Given the description of an element on the screen output the (x, y) to click on. 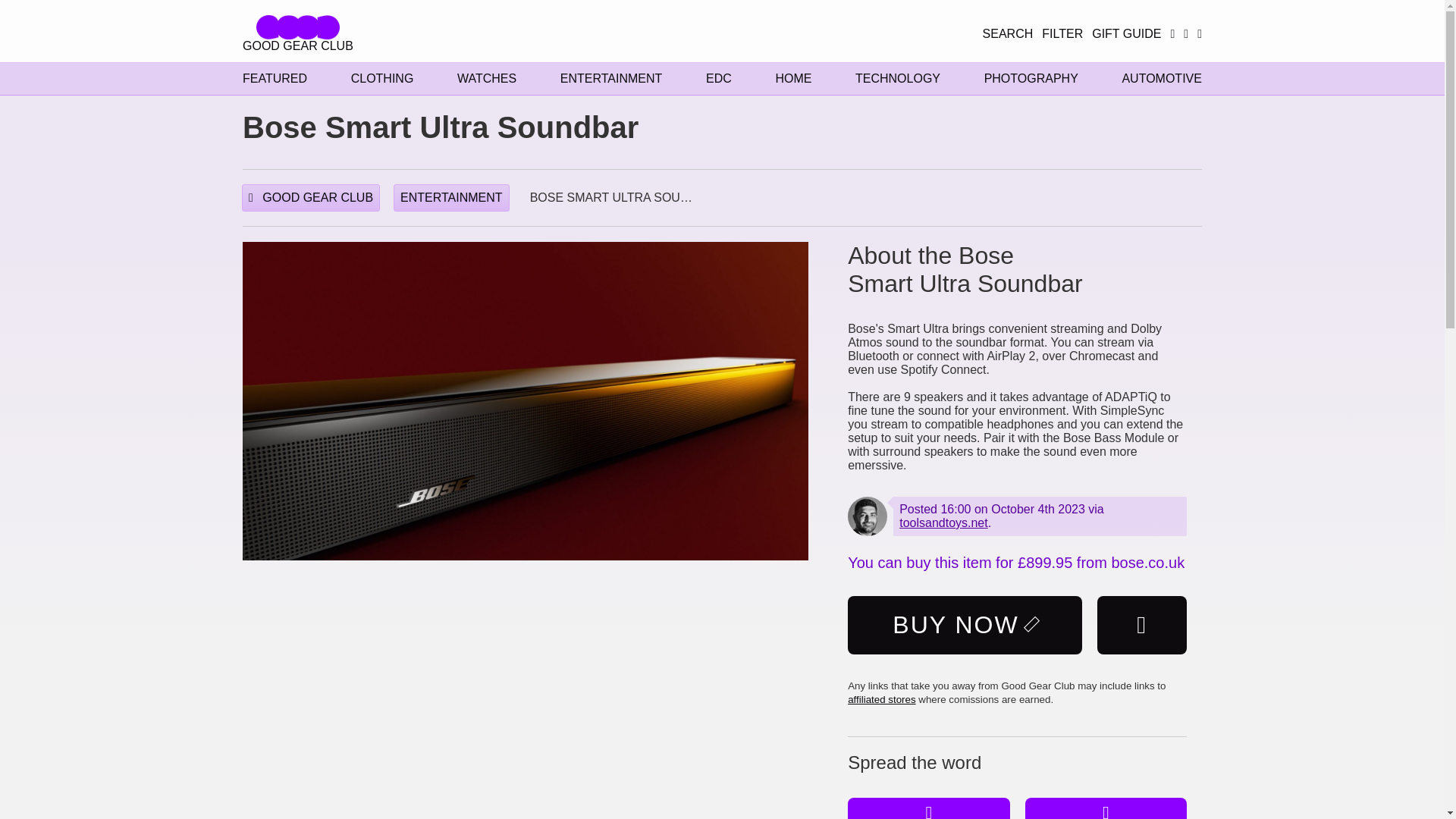
HOME (792, 78)
ENTERTAINMENT (611, 78)
PHOTOGRAPHY (1031, 78)
ENTERTAINMENT (451, 197)
WATCHES (486, 78)
GOOD GEAR CLUB (298, 34)
BUY NOW (964, 625)
SEARCH (1007, 33)
CLOTHING (381, 78)
GIFT GUIDE (1126, 33)
